Given the description of an element on the screen output the (x, y) to click on. 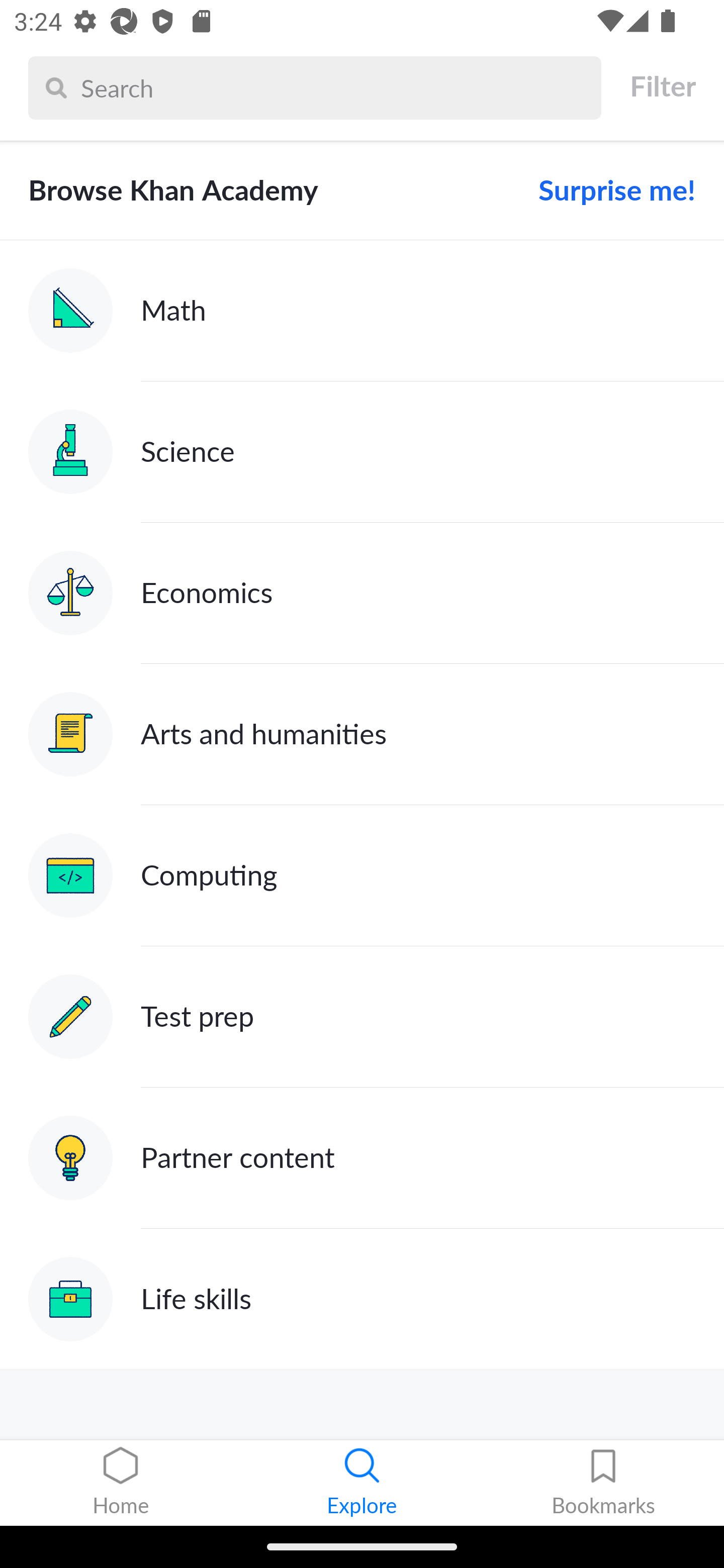
Search Search Search (314, 87)
Search (335, 87)
Filter (662, 85)
Surprise me! (609, 190)
Math (362, 310)
Science (362, 451)
Economics (362, 592)
Arts and humanities (362, 733)
Computing (362, 875)
Test prep (362, 1017)
Partner content (362, 1158)
Life skills (362, 1298)
Home (120, 1482)
Explore (361, 1482)
Bookmarks (603, 1482)
